Given the description of an element on the screen output the (x, y) to click on. 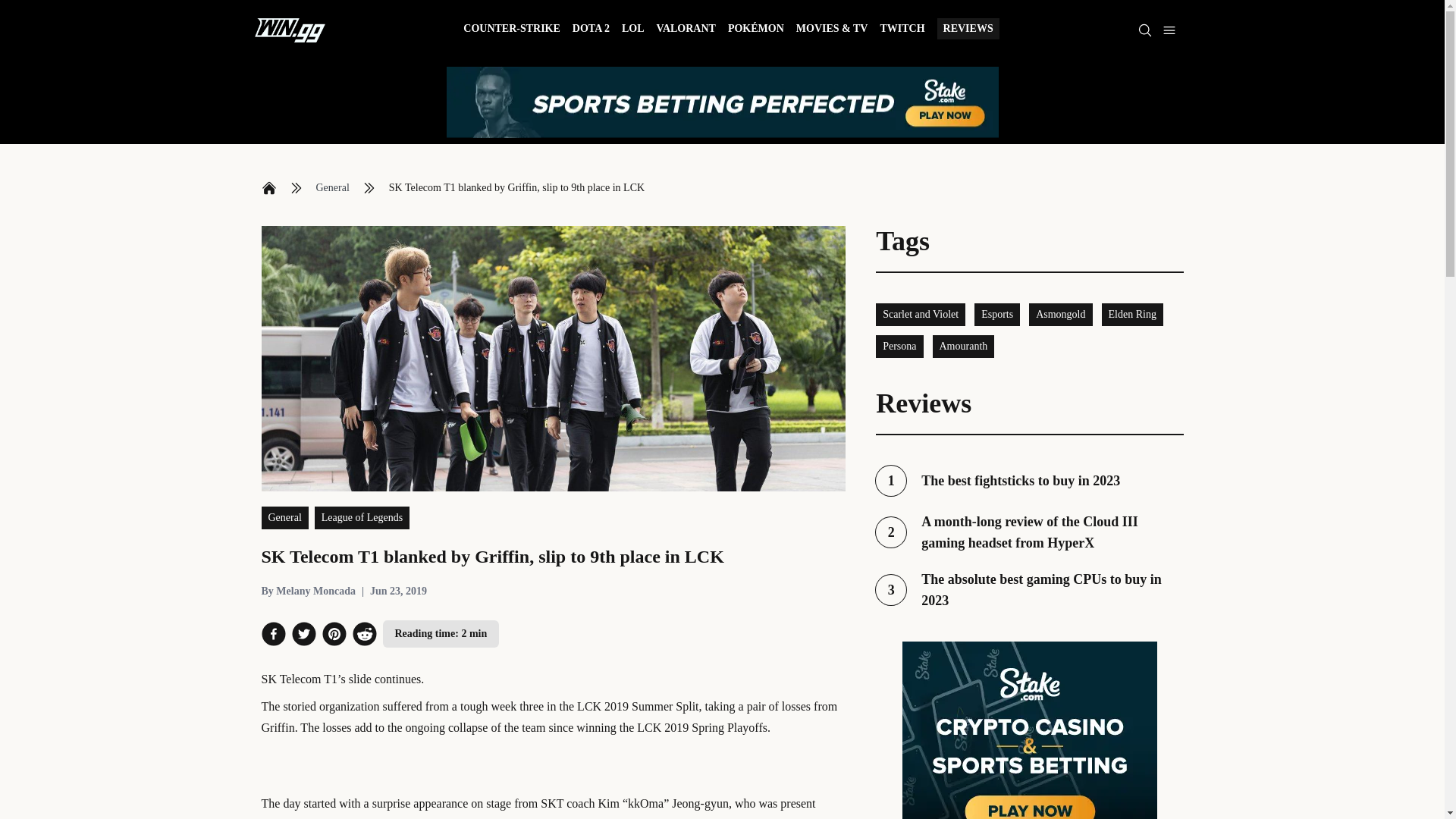
DOTA 2 (591, 30)
SK Telecom T1 blanked by Griffin, slip to 9th place in LCK (516, 187)
Scarlet and Violet (920, 314)
Asmongold (1060, 314)
General (332, 187)
COUNTER-STRIKE (511, 30)
VALORANT (686, 30)
League of Legends (361, 517)
LOL (633, 30)
REVIEWS (967, 28)
TWITCH (1029, 589)
Elden Ring (901, 30)
Persona (1130, 314)
